Given the description of an element on the screen output the (x, y) to click on. 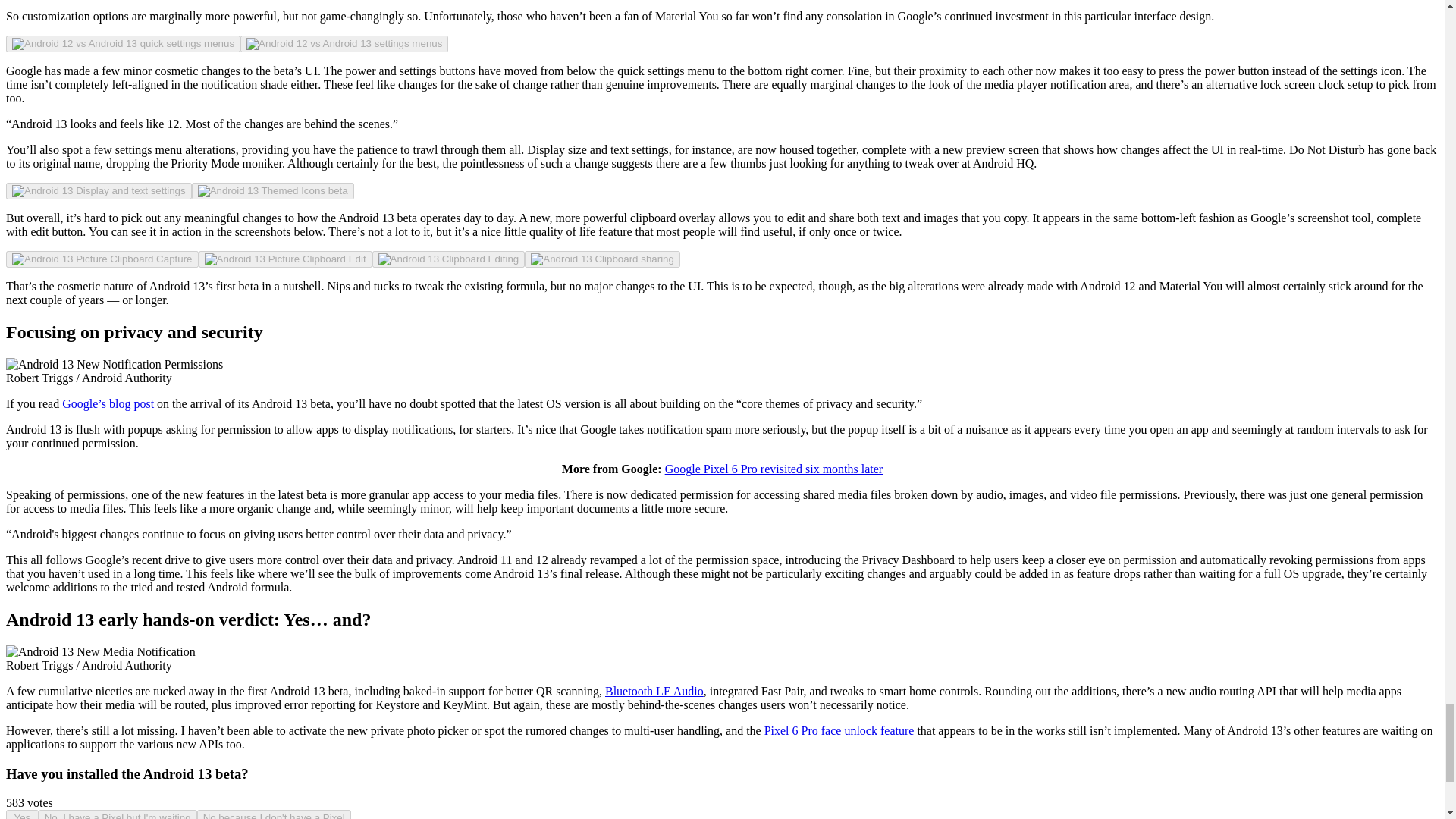
Android 13 New Media Notification (100, 652)
Android 13 Clipboard sharing (602, 259)
Android 13 Picture Clipboard Capture (101, 259)
Google Pixel 6 Pro revisited six months later (774, 468)
Android 13 New Notification Permissions (113, 364)
Bluetooth LE Audio (654, 690)
Android 13 Themed Icons beta (272, 191)
Android 12 vs Android 13 settings menus (344, 43)
Android 13 Display and text settings (98, 191)
Android 13 Clipboard Editing (448, 259)
Pixel 6 Pro face unlock feature (839, 730)
Android 13 Picture Clipboard Edit (285, 259)
Android 12 vs Android 13 quick settings menus (122, 43)
